Given the description of an element on the screen output the (x, y) to click on. 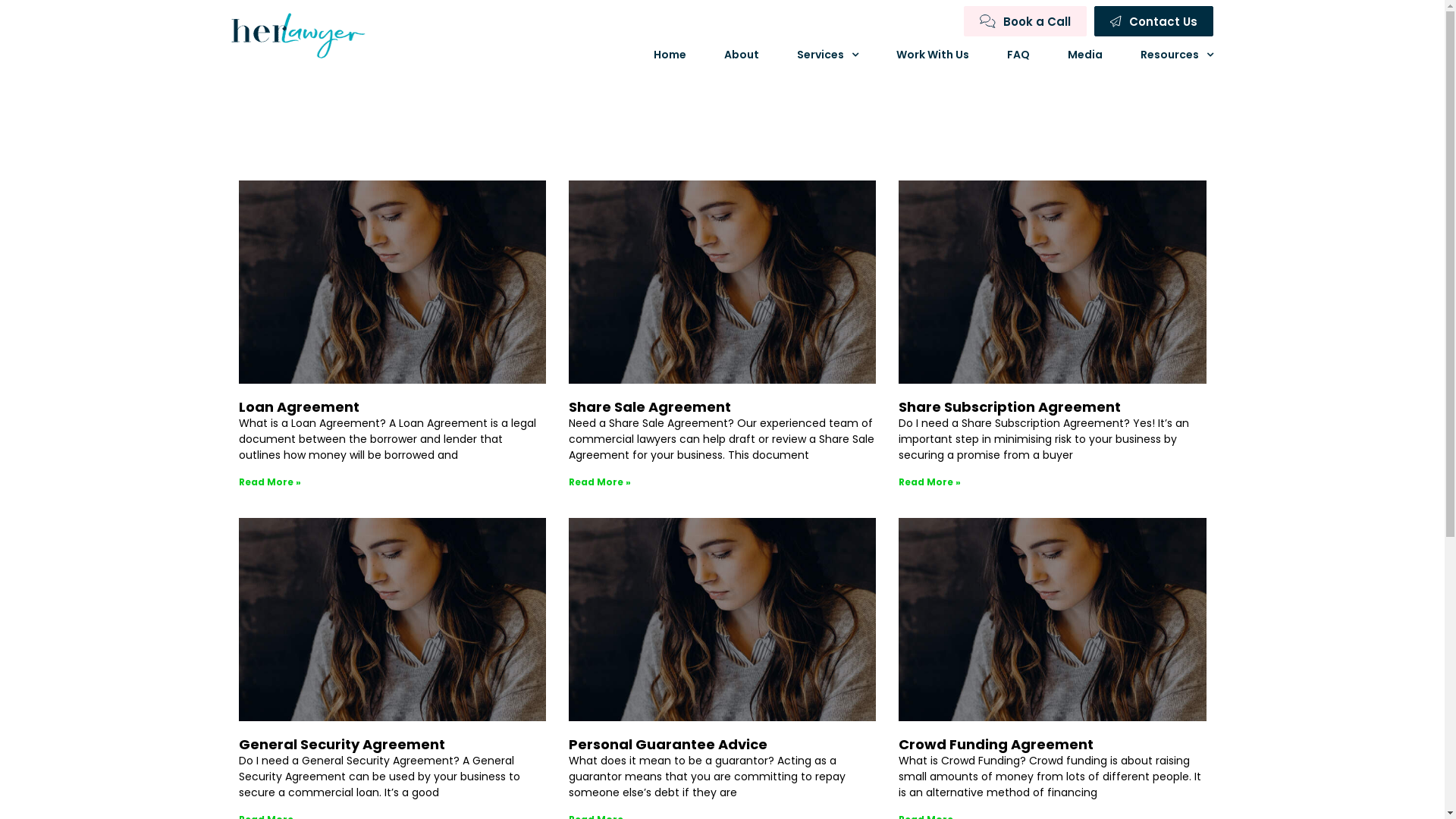
Work With Us Element type: text (932, 54)
Resources Element type: text (1176, 54)
Share Subscription Agreement Element type: text (1009, 406)
General Security Agreement Element type: text (341, 743)
FAQ Element type: text (1018, 54)
Book a Call Element type: text (1024, 21)
Personal Guarantee Advice Element type: text (667, 743)
Share Sale Agreement Element type: text (649, 406)
Contact Us Element type: text (1153, 21)
About Element type: text (741, 54)
Media Element type: text (1084, 54)
Crowd Funding Agreement Element type: text (995, 743)
Services Element type: text (827, 54)
Home Element type: text (669, 54)
Loan Agreement Element type: text (298, 406)
